Given the description of an element on the screen output the (x, y) to click on. 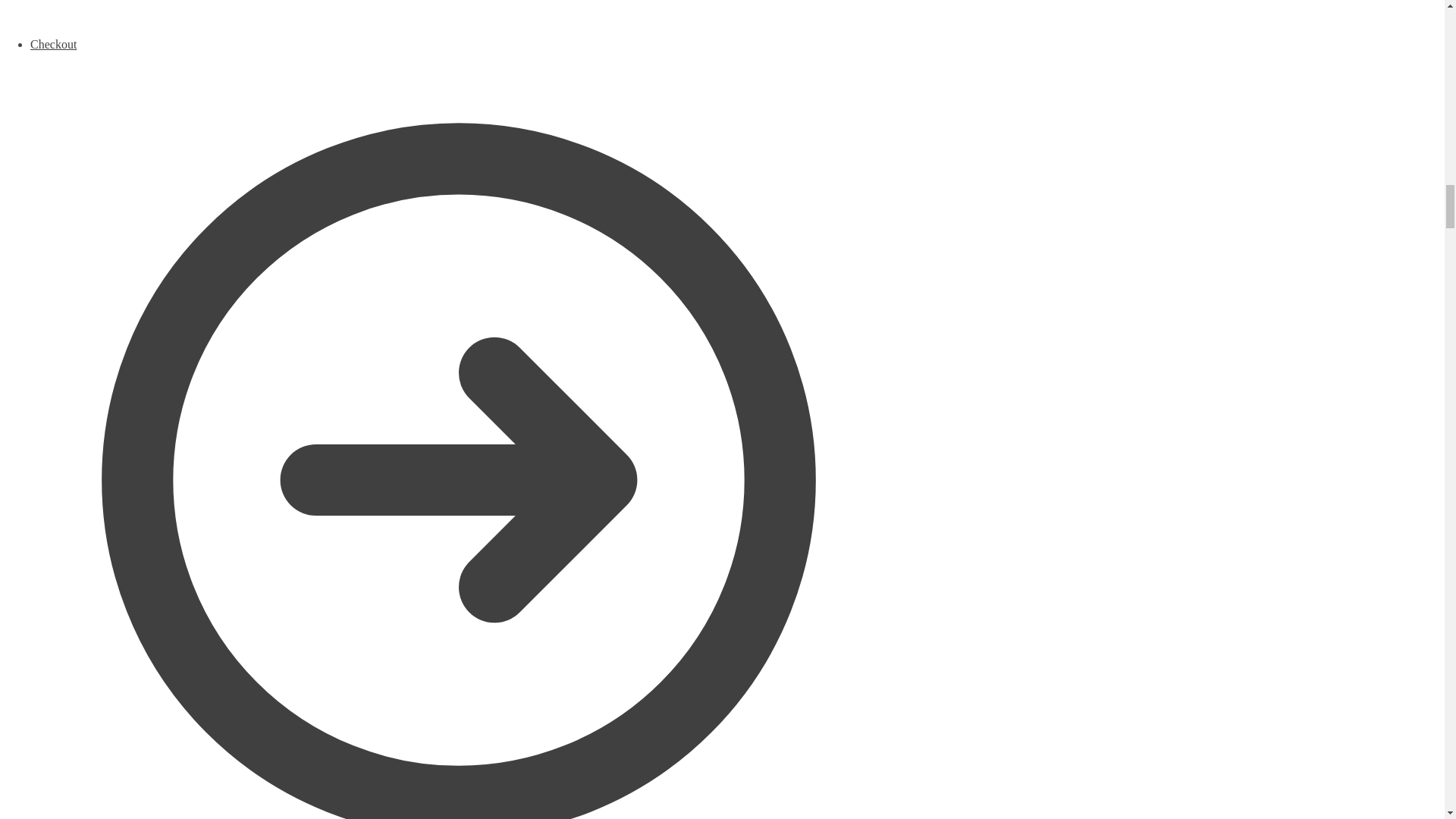
Customer Help (458, 18)
